Given the description of an element on the screen output the (x, y) to click on. 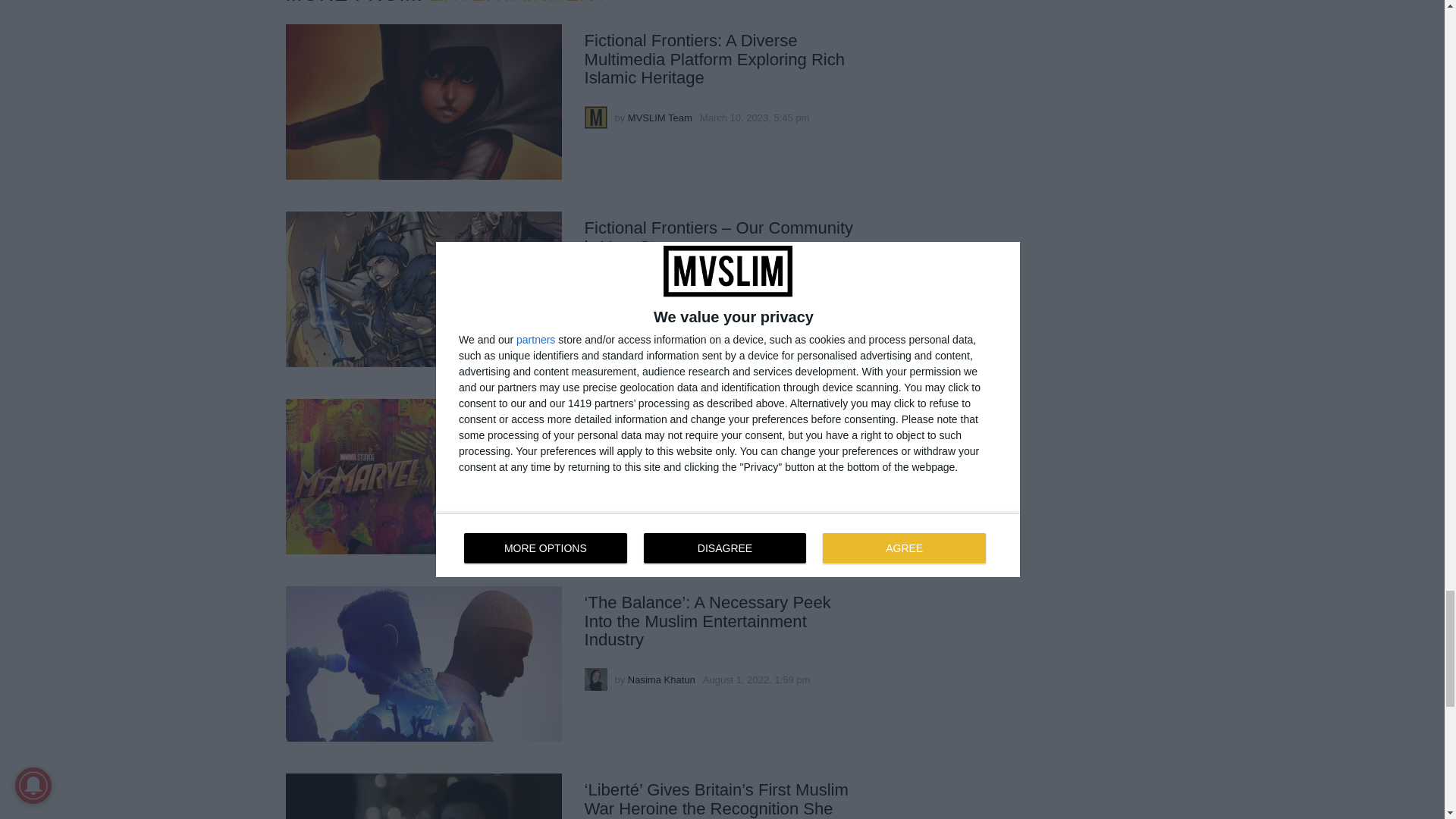
Posts by Nasima Khatun (661, 679)
Posts by MVSLIM Team (660, 285)
Posts by Guest Writer (654, 491)
January 9, 2023, 1:00 pm (755, 285)
September 29, 2022, 3:57 pm (755, 491)
Posts by MVSLIM Team (660, 117)
August 1, 2022, 1:59 pm (756, 679)
March 10, 2023, 5:45 pm (754, 117)
